Given the description of an element on the screen output the (x, y) to click on. 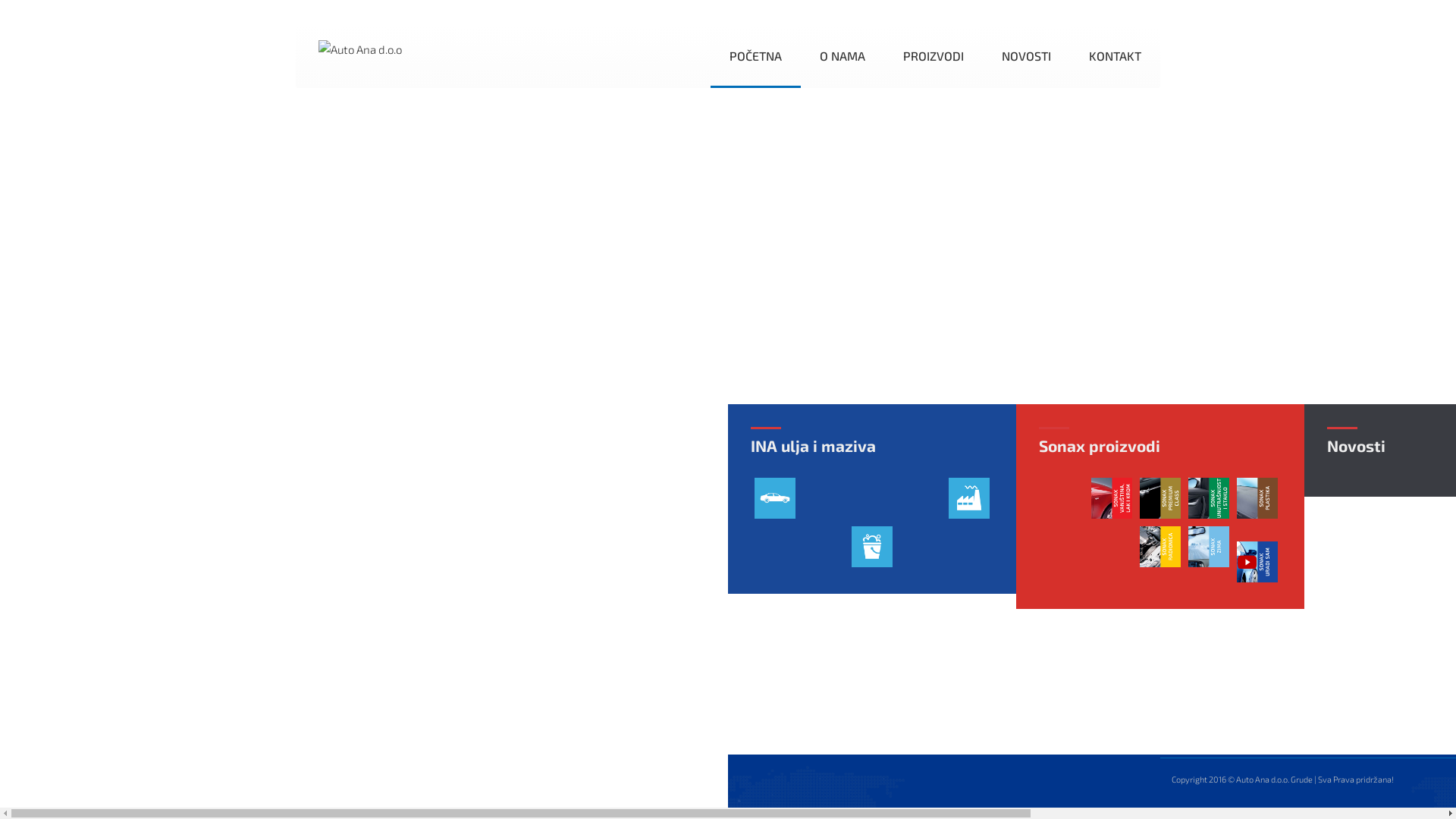
INA ulja i maziva Element type: text (812, 444)
Sonax proizvodi Element type: text (1099, 444)
NOVOSTI Element type: text (1026, 56)
PROIZVODI Element type: text (933, 56)
O NAMA Element type: text (842, 56)
Novosti Element type: text (1356, 444)
KONTAKT Element type: text (1115, 56)
